Given the description of an element on the screen output the (x, y) to click on. 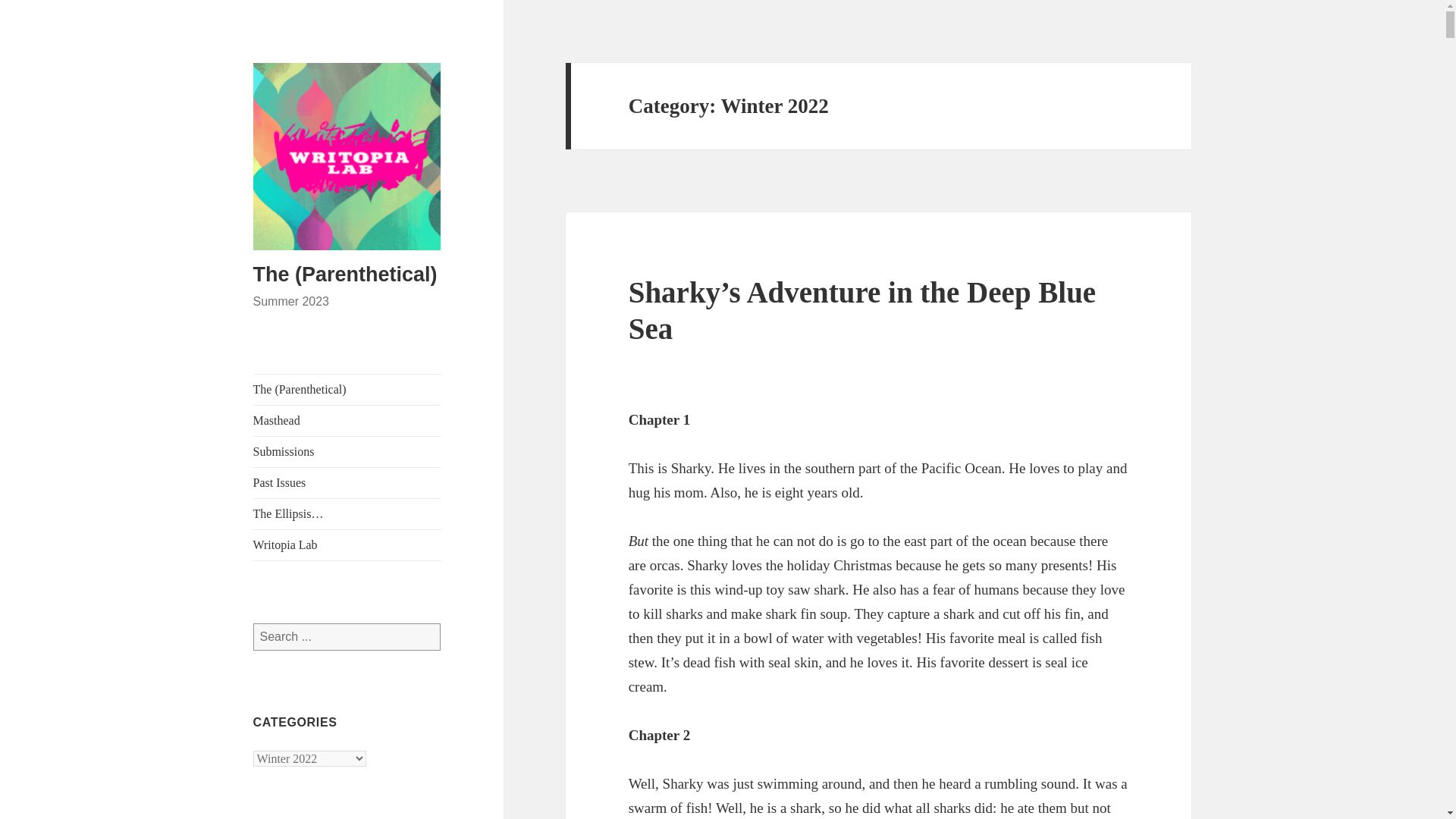
Submissions (347, 451)
Masthead (347, 420)
Past Issues (347, 482)
Writopia Lab (347, 544)
